Given the description of an element on the screen output the (x, y) to click on. 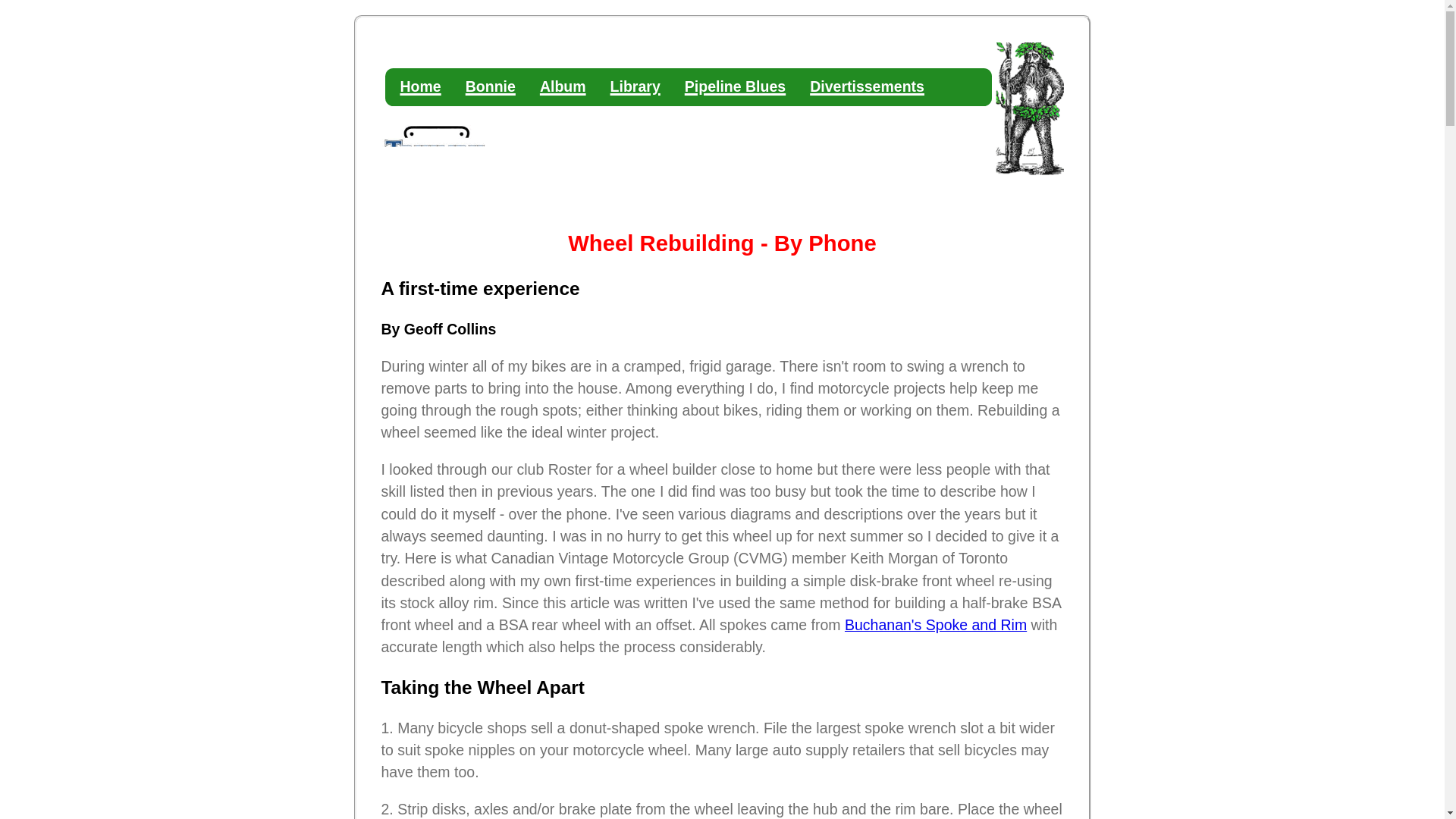
Album (562, 87)
Home (420, 87)
Library (635, 87)
Bonnie (489, 87)
